Given the description of an element on the screen output the (x, y) to click on. 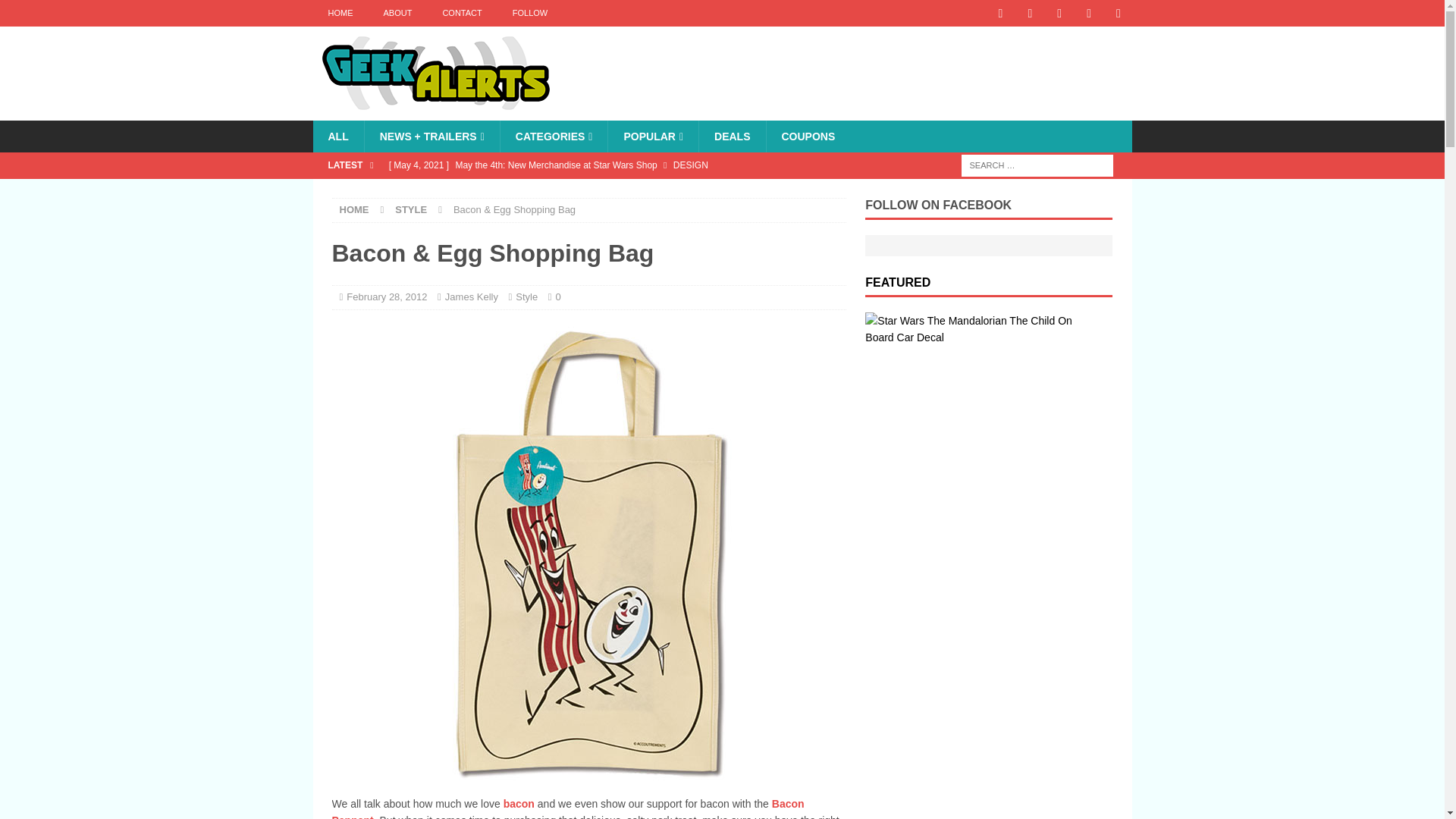
Search (56, 11)
DEALS (731, 136)
ABOUT (398, 13)
HOME (354, 209)
CONTACT (461, 13)
FOLLOW (529, 13)
POPULAR (652, 136)
CATEGORIES (553, 136)
Rick and Morty Get Shwifty Bluetooth Speaker (612, 190)
May the 4th: New Merchandise at Star Wars Shop (612, 165)
HOME (340, 13)
COUPONS (807, 136)
ALL (337, 136)
